Given the description of an element on the screen output the (x, y) to click on. 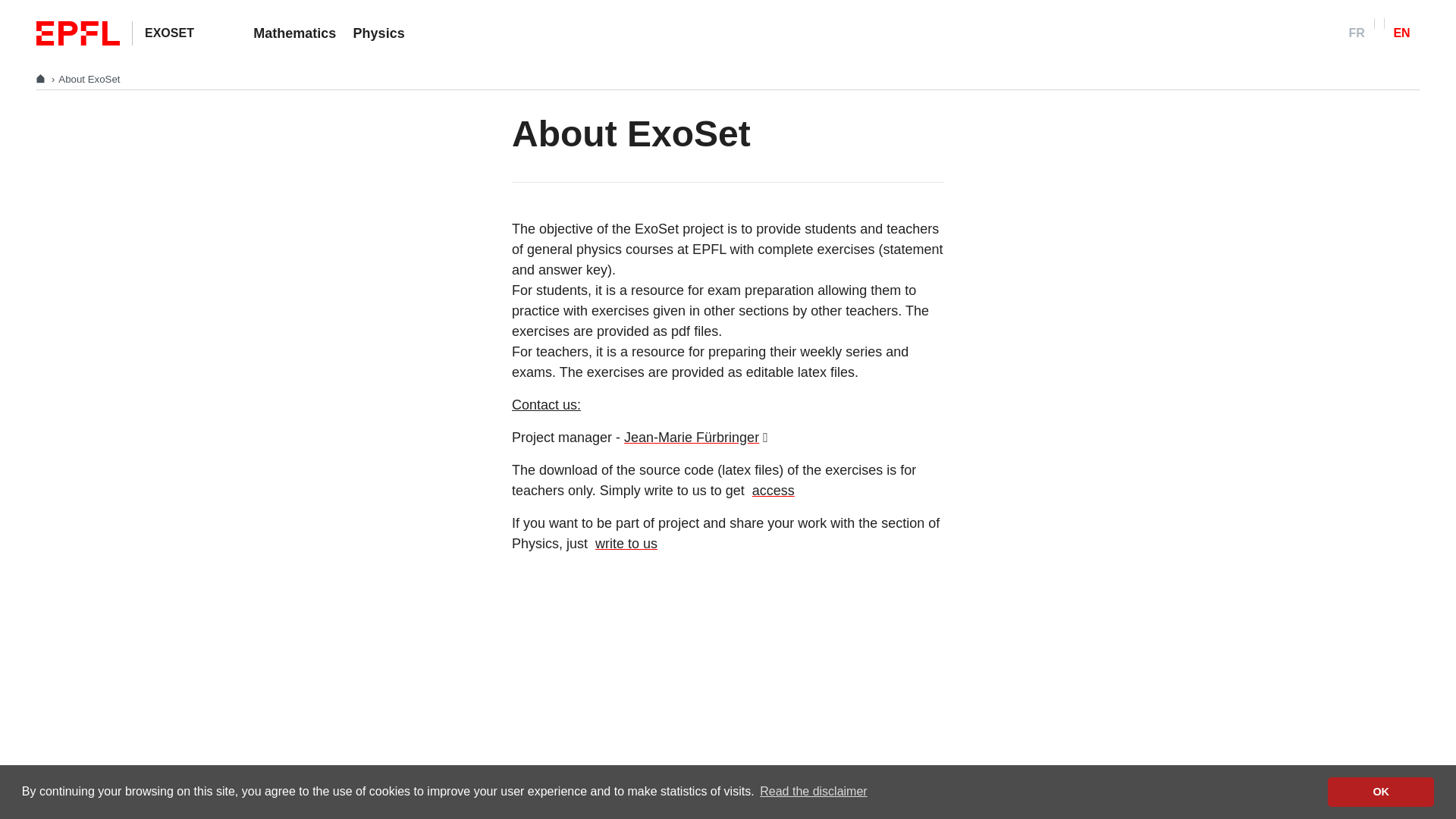
write to us (624, 543)
Physics (377, 33)
FR (1356, 33)
Read the disclaimer (813, 791)
Mathematics (293, 33)
About ExoSet (88, 79)
EXOSET (168, 32)
EN (1401, 33)
OK (1380, 791)
access (771, 490)
